Given the description of an element on the screen output the (x, y) to click on. 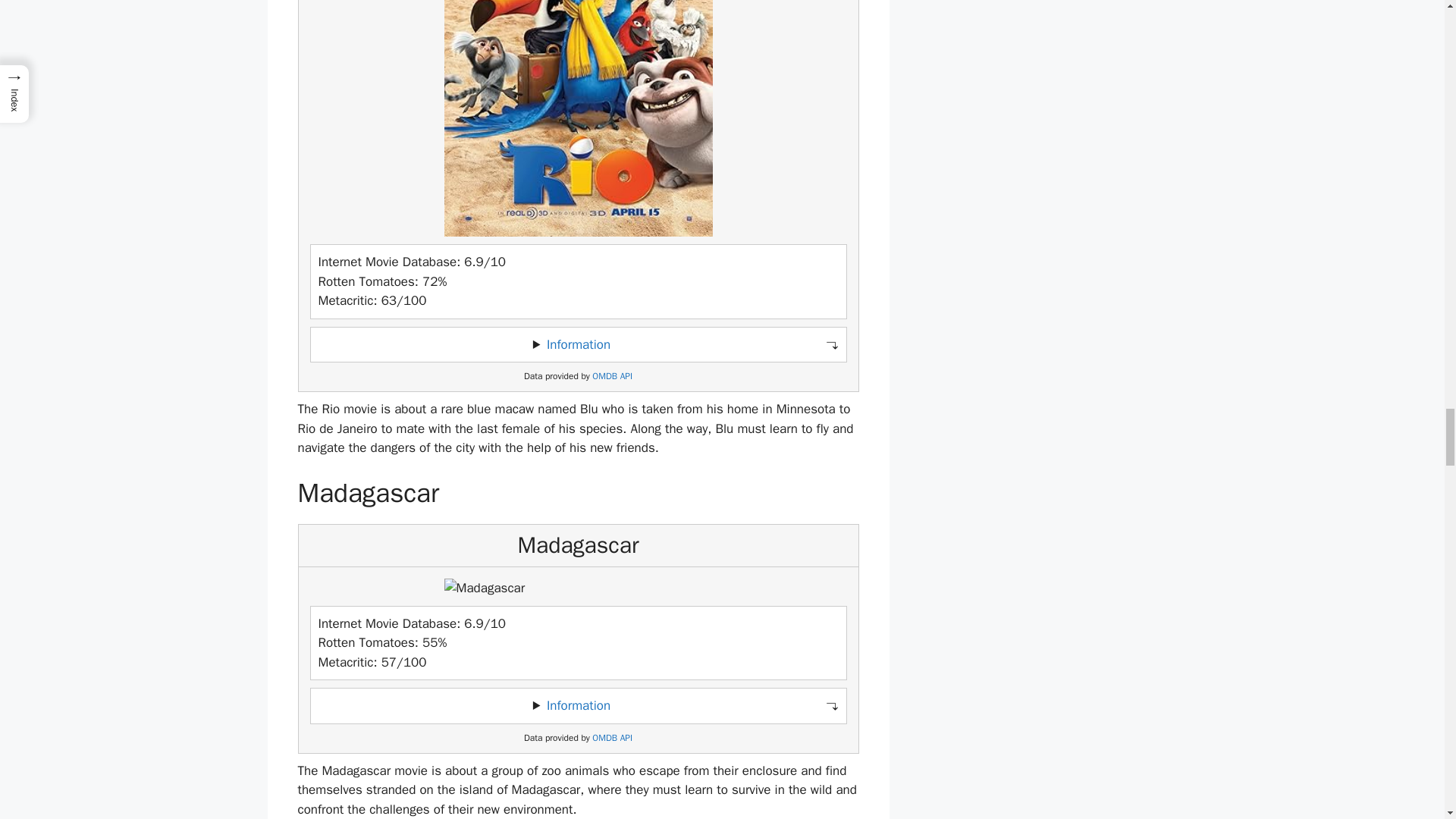
OMDB API (611, 376)
Information (578, 705)
OMDB API (611, 737)
Information (578, 344)
